Given the description of an element on the screen output the (x, y) to click on. 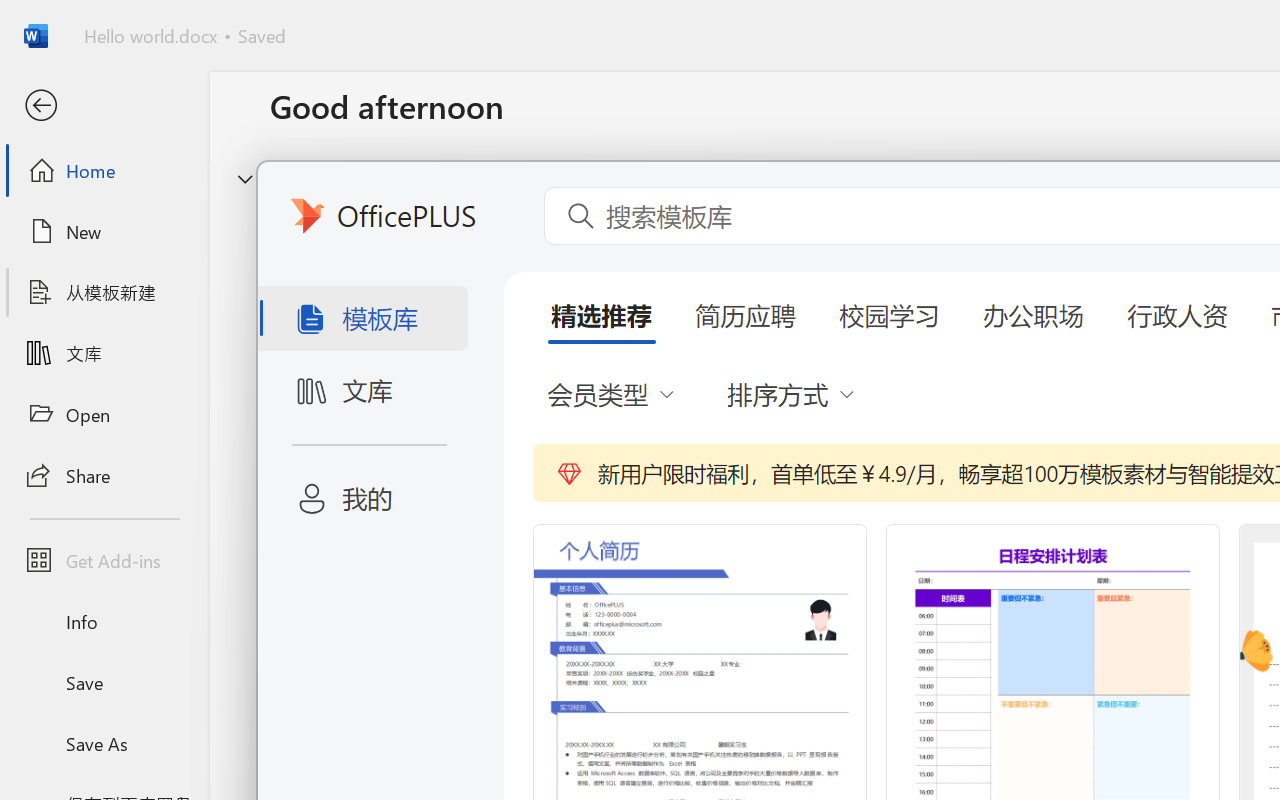
New (104, 231)
Save As (104, 743)
Home (104, 170)
Get Add-ins (104, 560)
Open (104, 414)
Info (104, 621)
Share (104, 474)
